Given the description of an element on the screen output the (x, y) to click on. 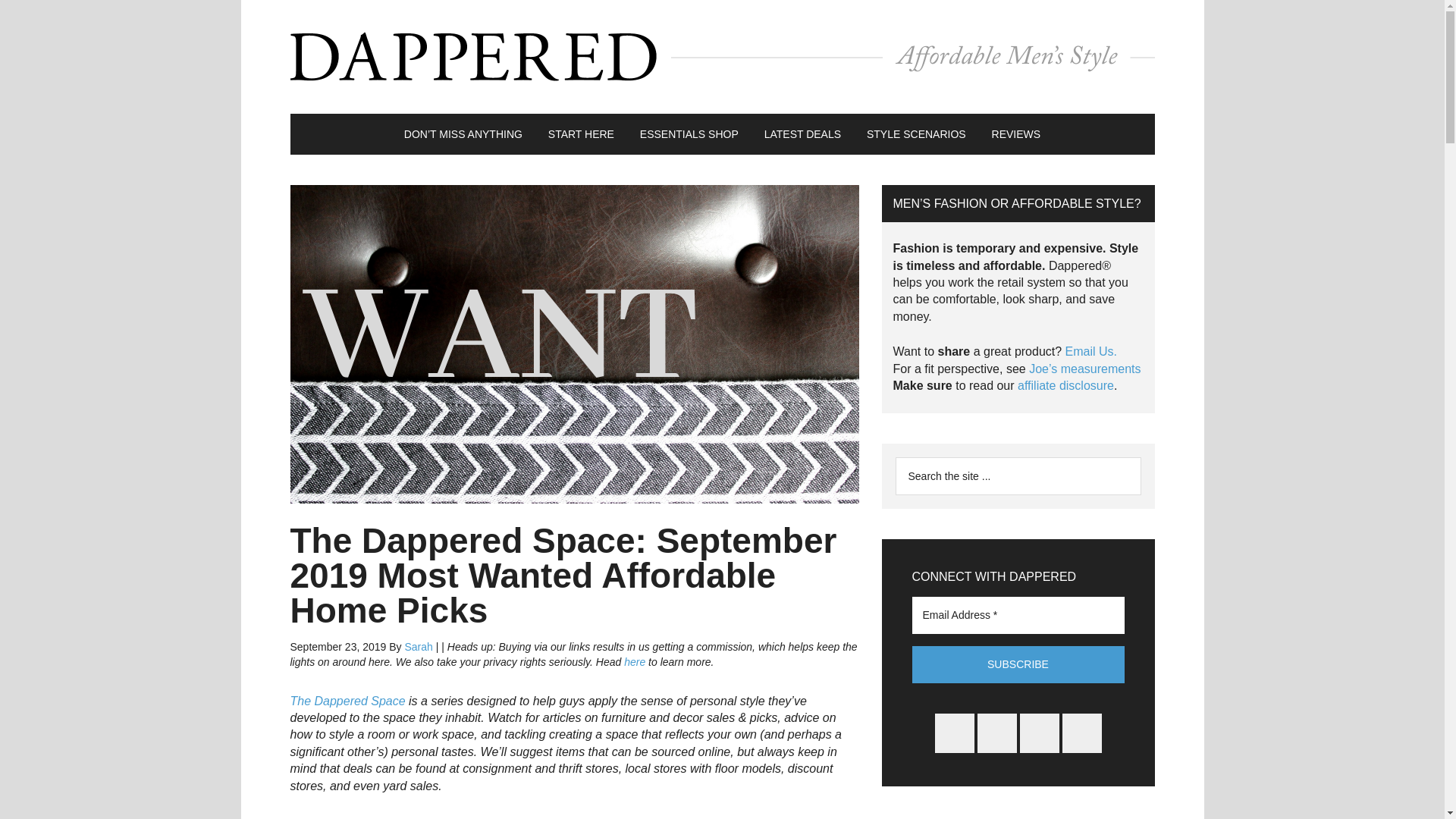
Email Address (1017, 614)
STYLE SCENARIOS (916, 133)
here (634, 662)
Sarah (418, 646)
START HERE (581, 133)
The Dappered Space (346, 700)
Dappered Disclosures (1065, 385)
ESSENTIALS SHOP (688, 133)
Subscribe (1017, 664)
LATEST DEALS (801, 133)
REVIEWS (1015, 133)
Dappered (721, 56)
